Given the description of an element on the screen output the (x, y) to click on. 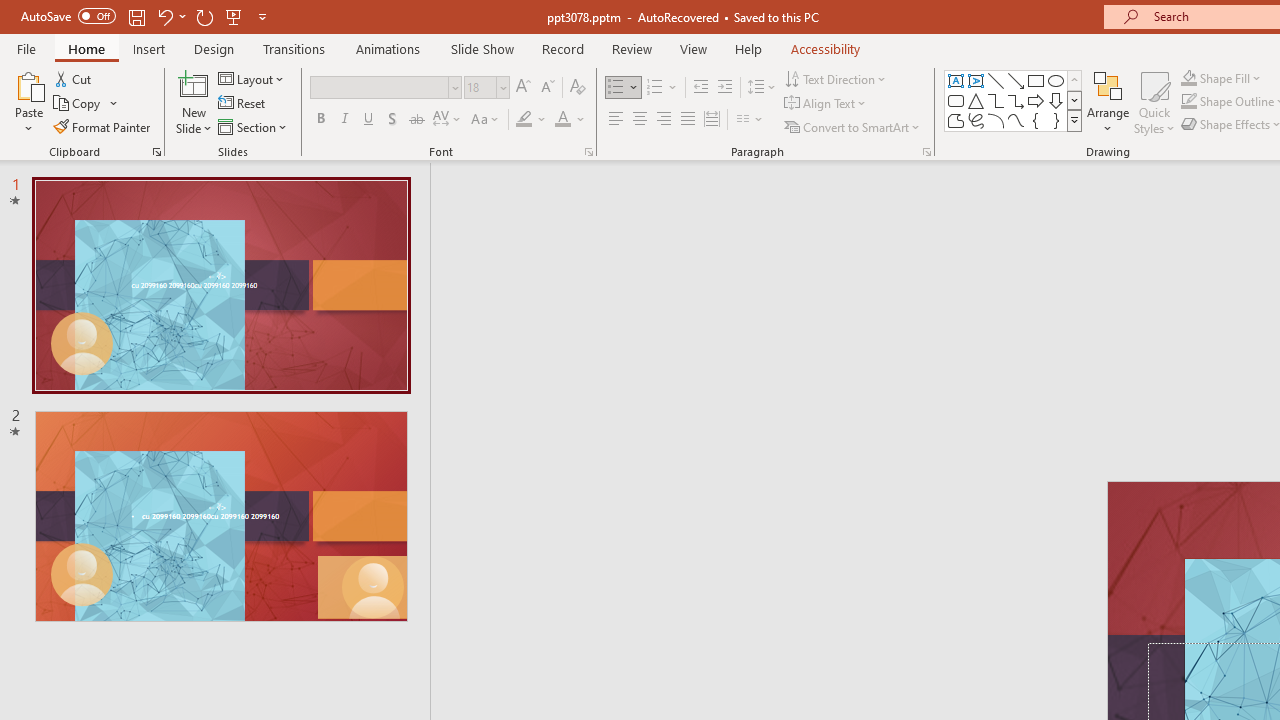
Font... (588, 151)
Shape Outline Green, Accent 1 (1188, 101)
Strikethrough (416, 119)
Arc (995, 120)
Freeform: Scribble (975, 120)
Format Painter (103, 126)
Align Left (616, 119)
Layout (252, 78)
Text Highlight Color Yellow (524, 119)
